Given the description of an element on the screen output the (x, y) to click on. 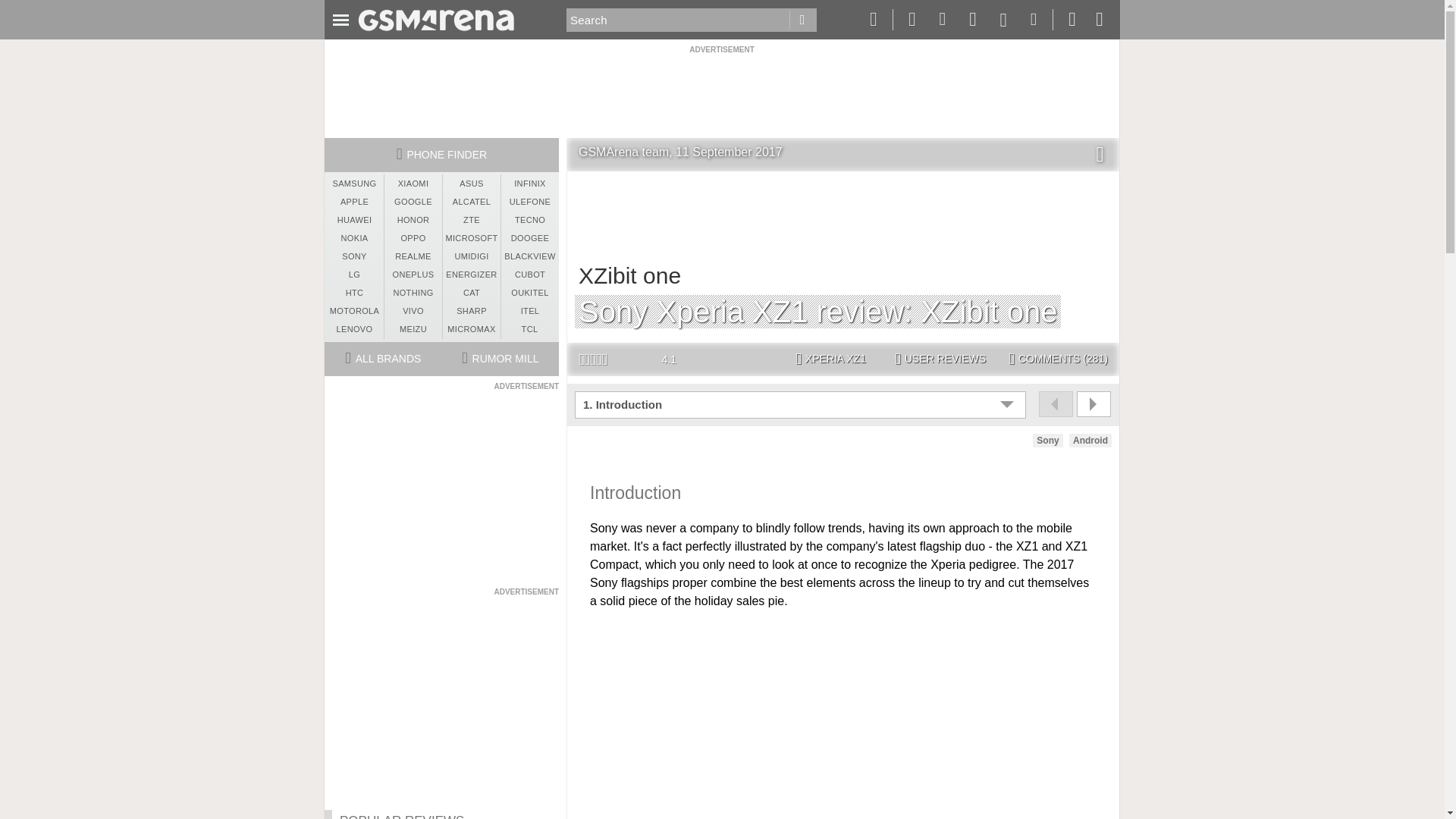
Next page (1093, 403)
1. Introduction (802, 404)
XPERIA XZ1 (830, 359)
Previous page (1056, 403)
Go (802, 19)
1. Introduction (802, 404)
USER REVIEWS (940, 359)
Go (802, 19)
